Given the description of an element on the screen output the (x, y) to click on. 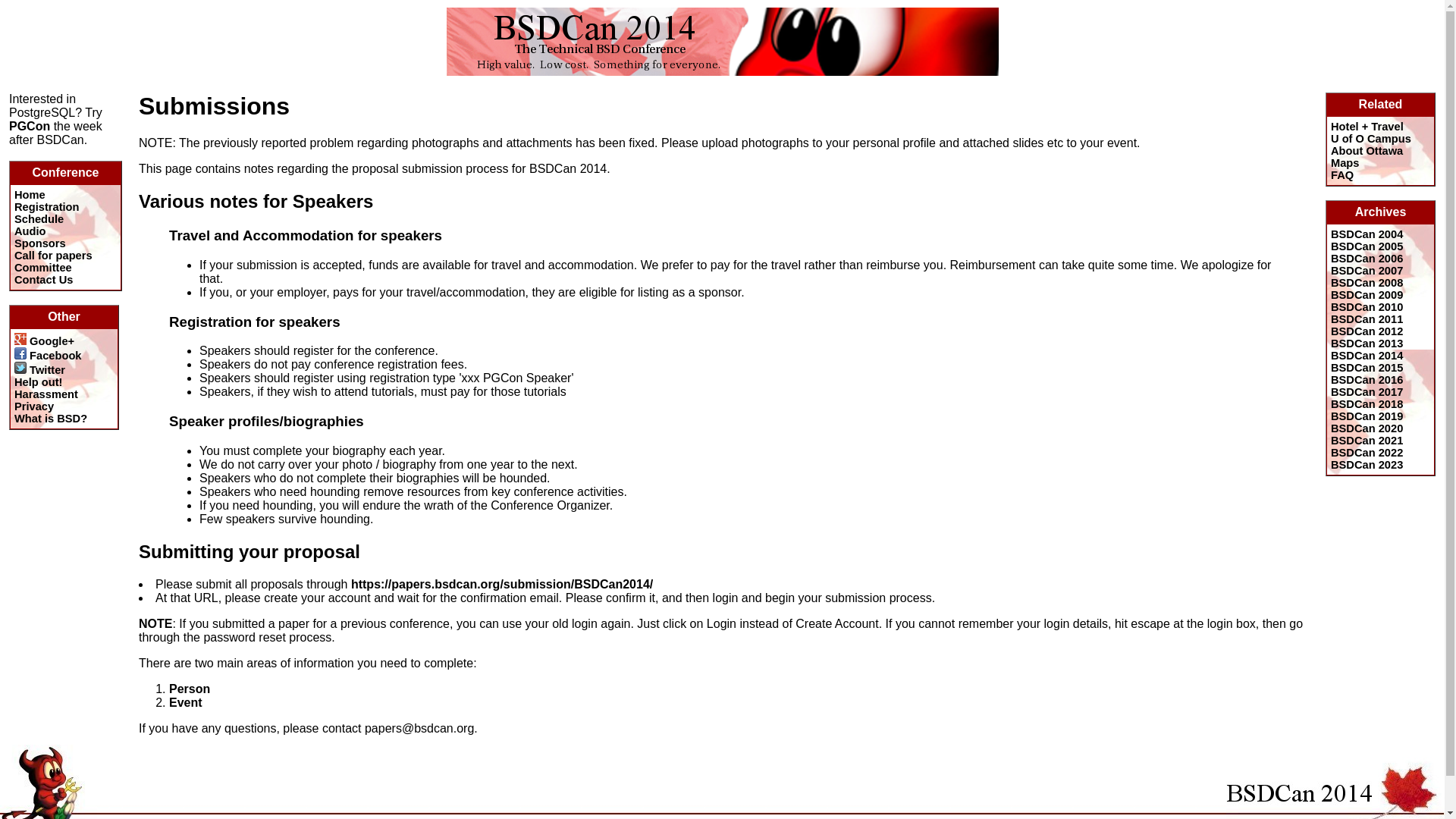
Audio (30, 231)
BSDCan 2004 (1366, 234)
Call for papers (53, 255)
Harassment (46, 394)
What is BSD? (50, 418)
Event (185, 702)
Twitter (39, 369)
BSDCan 2008 (1366, 282)
BSDCan 2012 (1366, 331)
BSDCan 2010 (1366, 306)
FAQ (1342, 174)
Person (188, 688)
PGCon (28, 125)
BSDCan 2006 (1366, 258)
Committee (42, 267)
